Given the description of an element on the screen output the (x, y) to click on. 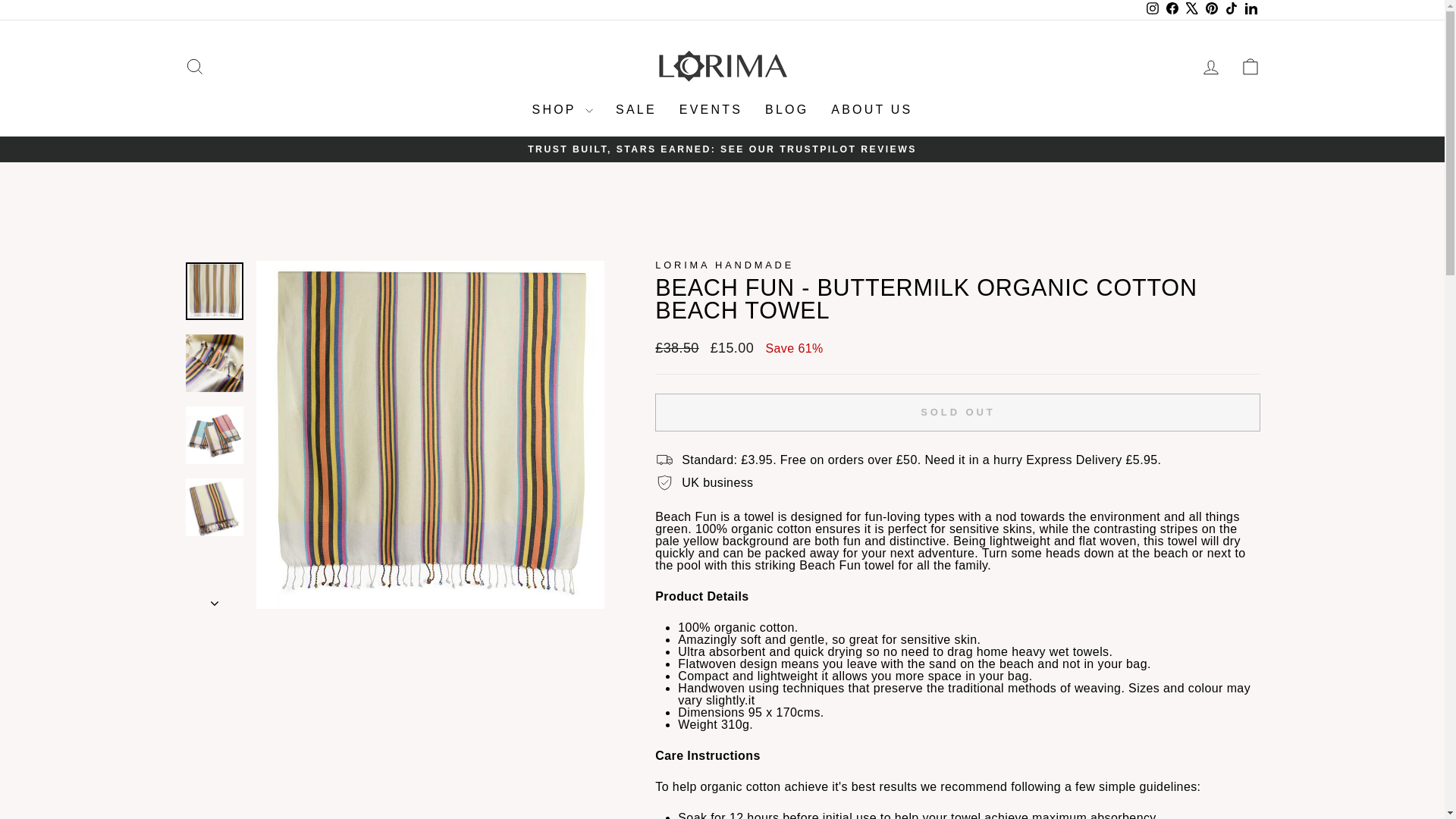
Lorima on LinkedIn (1250, 9)
ICON-BAG-MINIMAL (1249, 66)
Lorima on Pinterest (1211, 9)
Lorima on Instagram (1151, 9)
Lorima on X (1190, 9)
Lorima Handmade (724, 265)
Facebook (1170, 9)
icon-chevron (214, 603)
X (1190, 9)
LinkedIn (1250, 9)
